Given the description of an element on the screen output the (x, y) to click on. 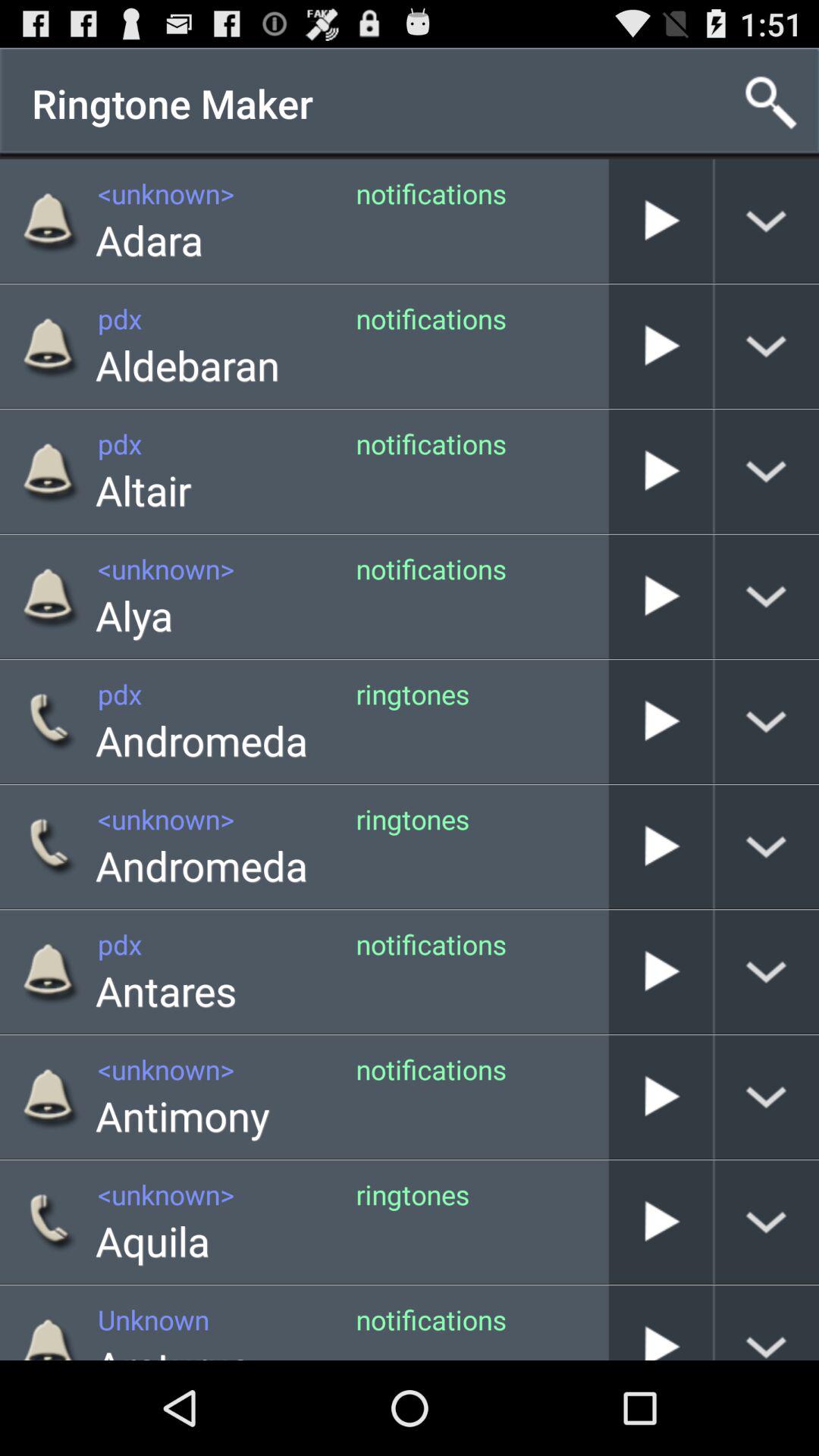
choose the item to the left of the notifications (172, 1349)
